Given the description of an element on the screen output the (x, y) to click on. 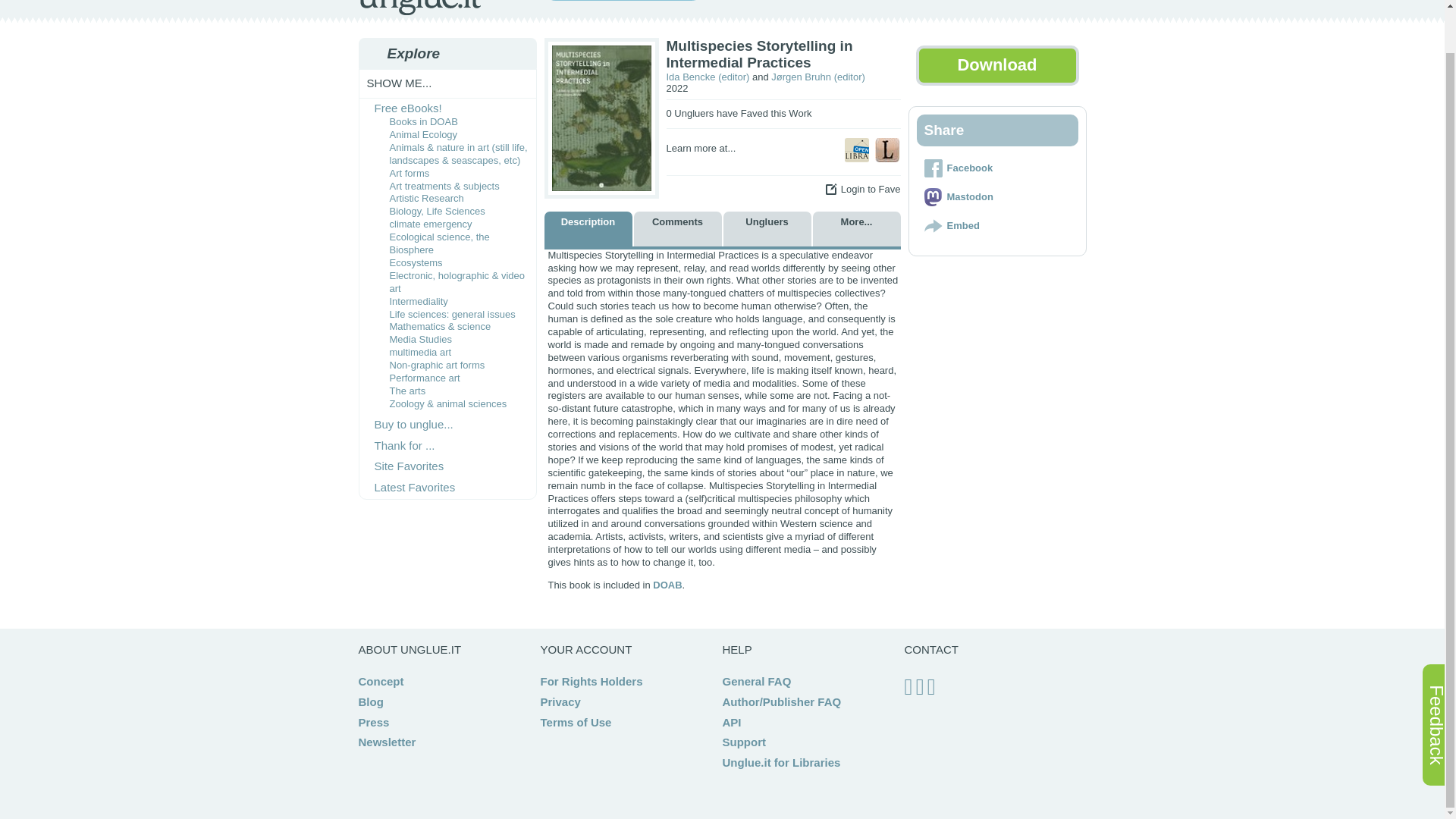
Art forms (409, 173)
Comments (677, 228)
Buy to unglue... (413, 423)
Ungluers (766, 228)
Find on OpenLibrary (856, 149)
multimedia art (420, 351)
Find on LibraryThing (887, 149)
Media Studies (420, 338)
The arts (408, 390)
